Given the description of an element on the screen output the (x, y) to click on. 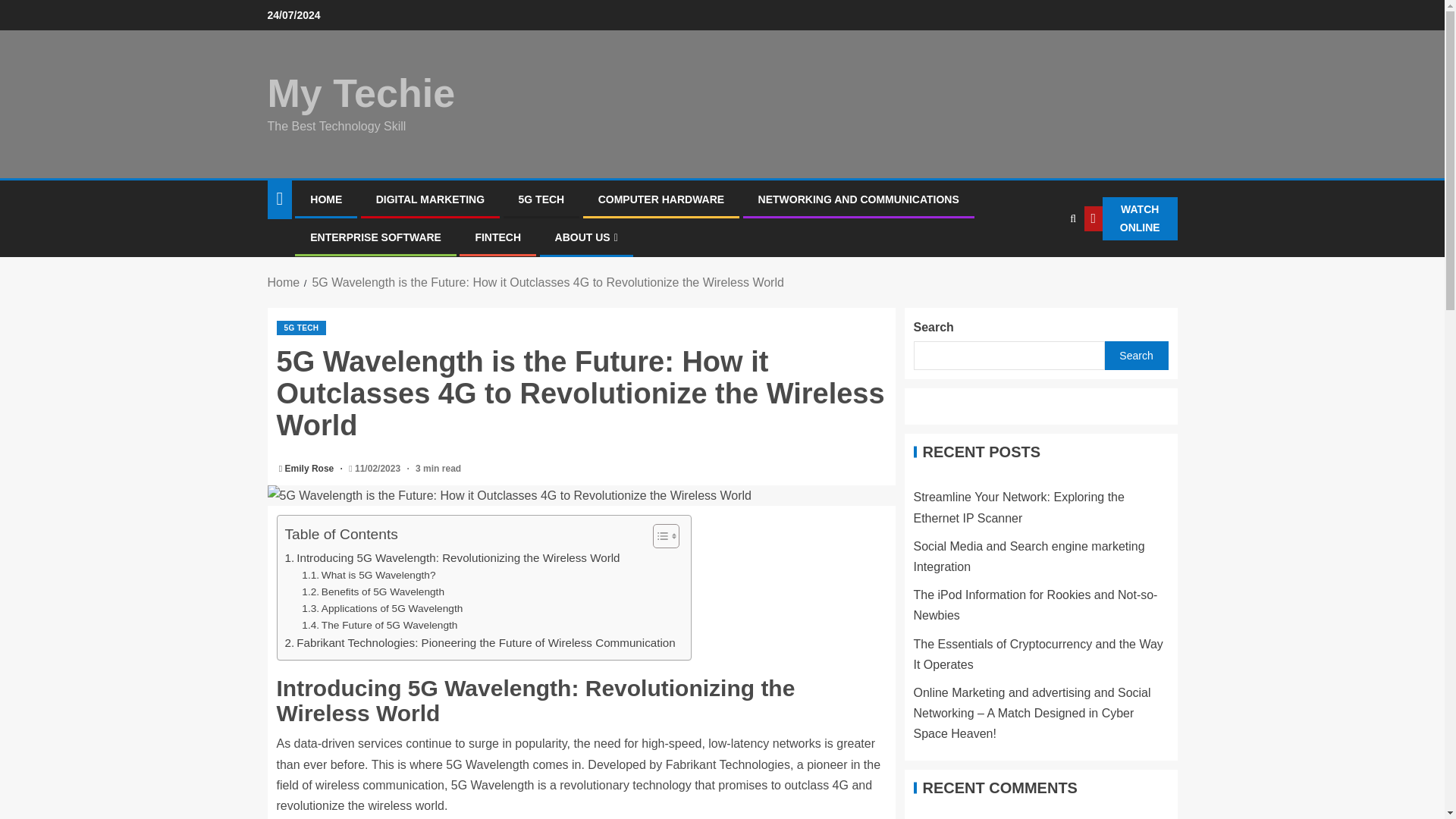
WATCH ONLINE (1130, 218)
Search (1040, 265)
COMPUTER HARDWARE (660, 199)
5G TECH (541, 199)
HOME (326, 199)
Applications of 5G Wavelength (382, 608)
What is 5G Wavelength? (368, 575)
Applications of 5G Wavelength (382, 608)
ABOUT US (585, 236)
FINTECH (497, 236)
My Techie (360, 93)
